Given the description of an element on the screen output the (x, y) to click on. 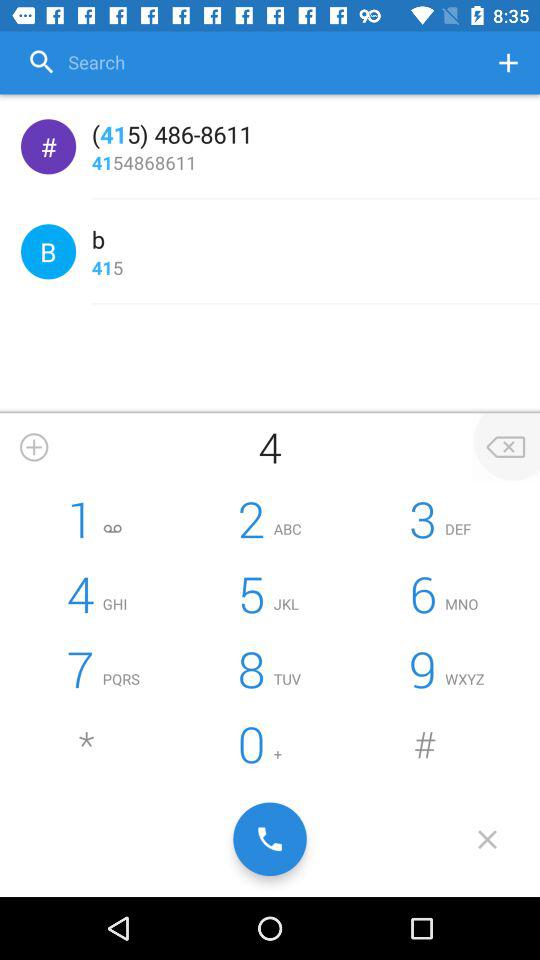
backspace (505, 447)
